Given the description of an element on the screen output the (x, y) to click on. 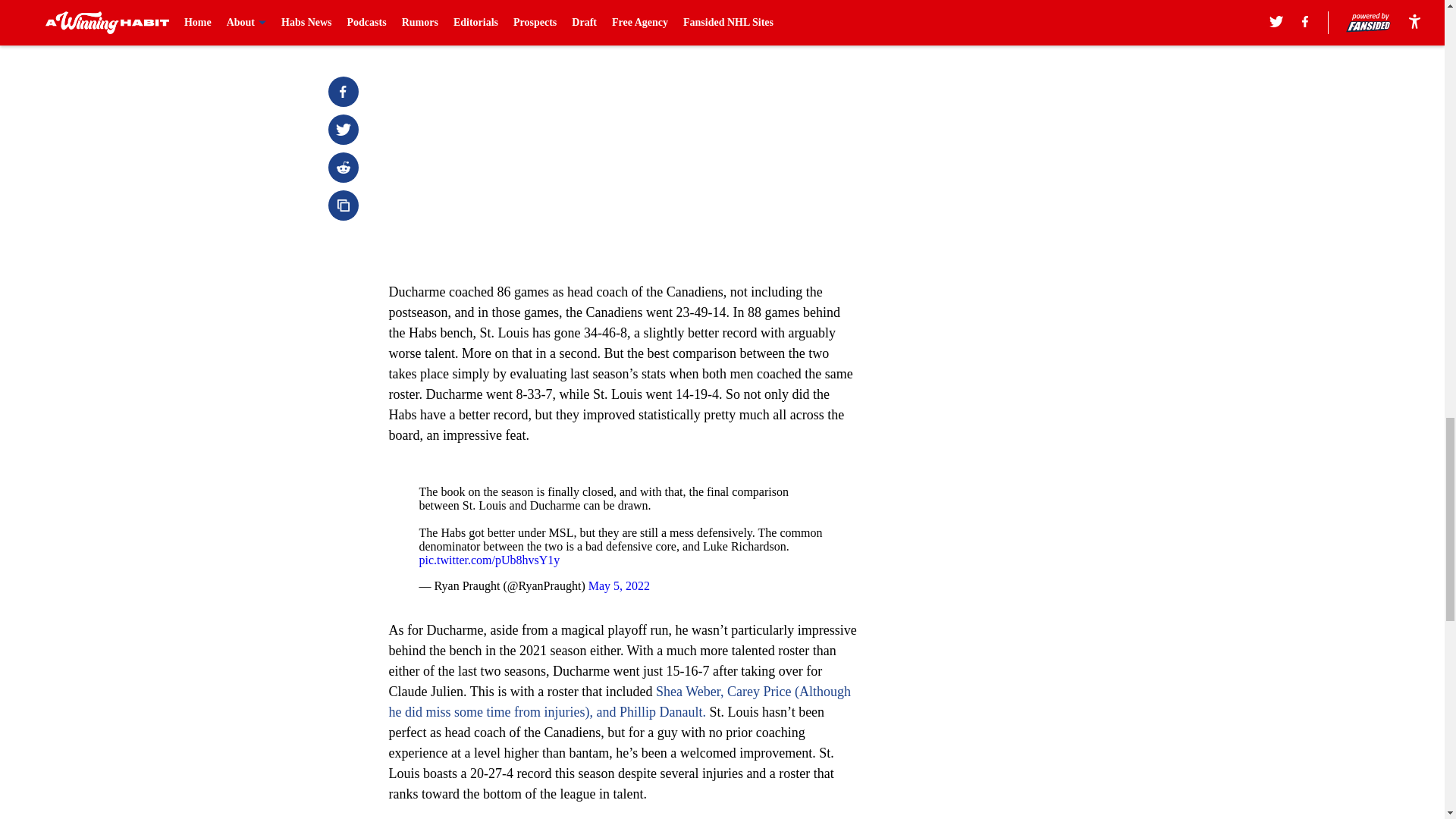
May 5, 2022 (618, 585)
